Given the description of an element on the screen output the (x, y) to click on. 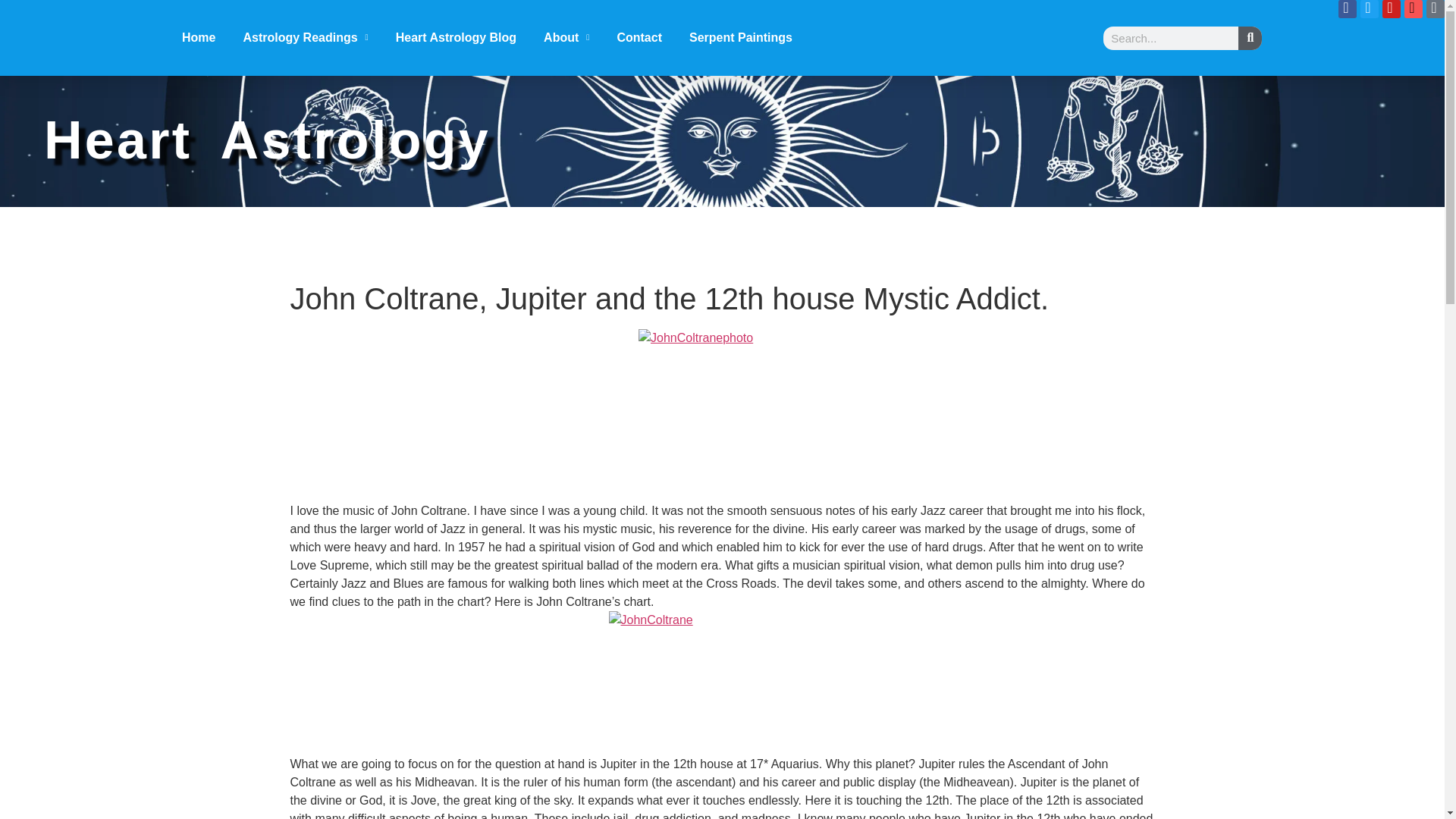
Astrology Readings (305, 37)
Heart Astrology Blog (456, 37)
Serpent Paintings (740, 37)
